Given the description of an element on the screen output the (x, y) to click on. 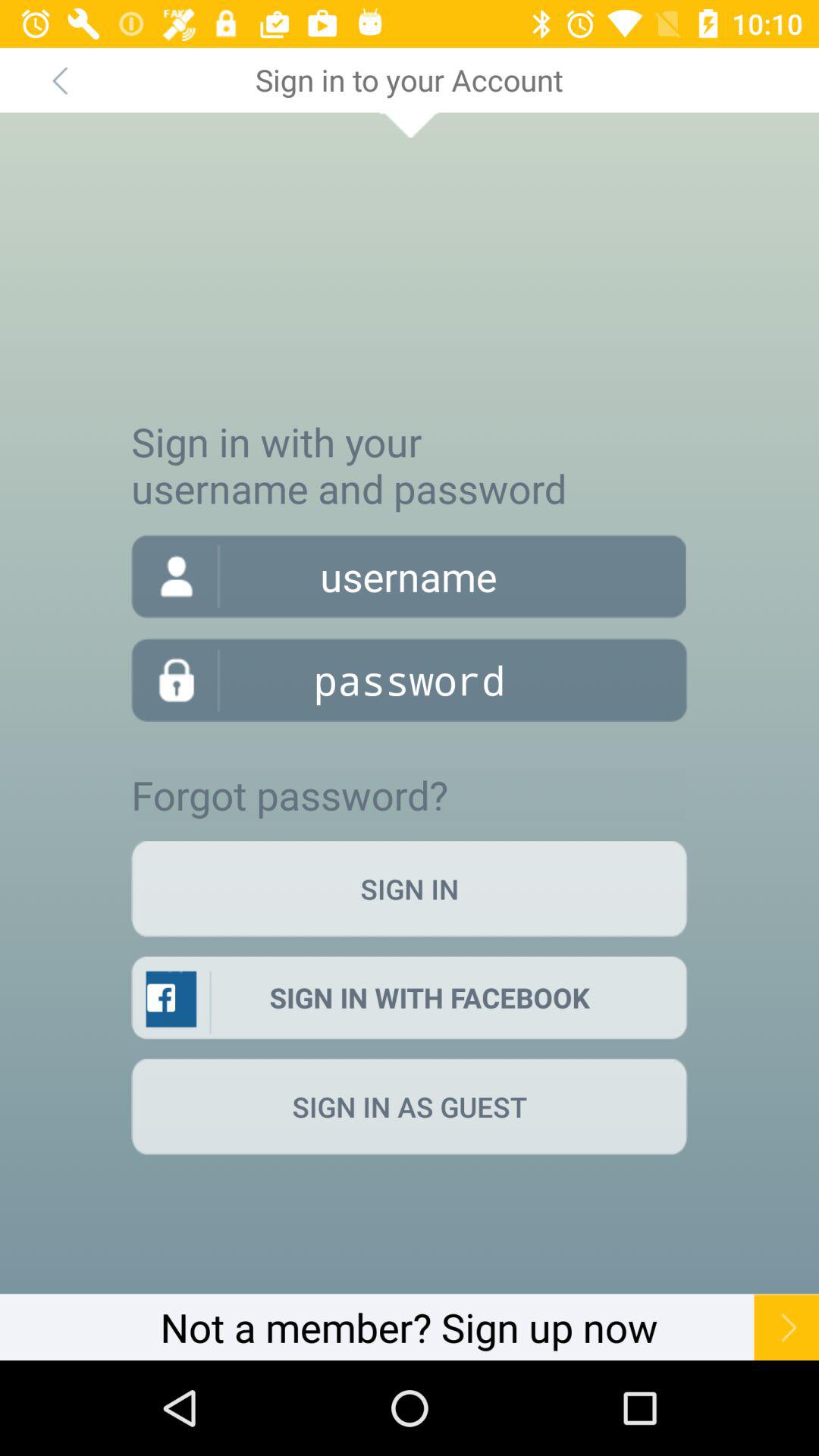
enter password (409, 679)
